Given the description of an element on the screen output the (x, y) to click on. 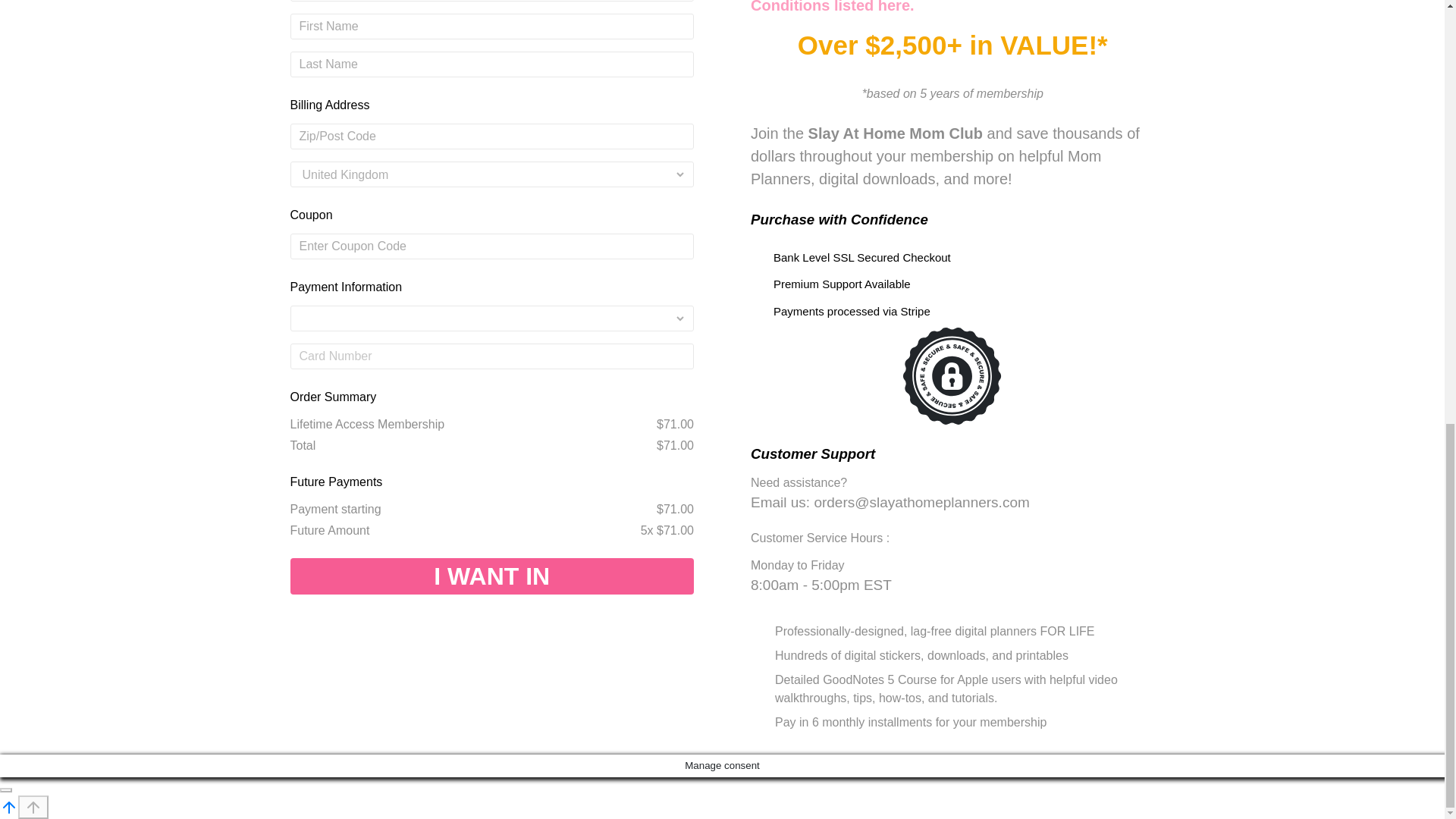
Scroll to top (8, 806)
Scroll to top (33, 807)
I WANT IN (491, 575)
Scroll to top (8, 807)
Scroll to top (8, 806)
